Given the description of an element on the screen output the (x, y) to click on. 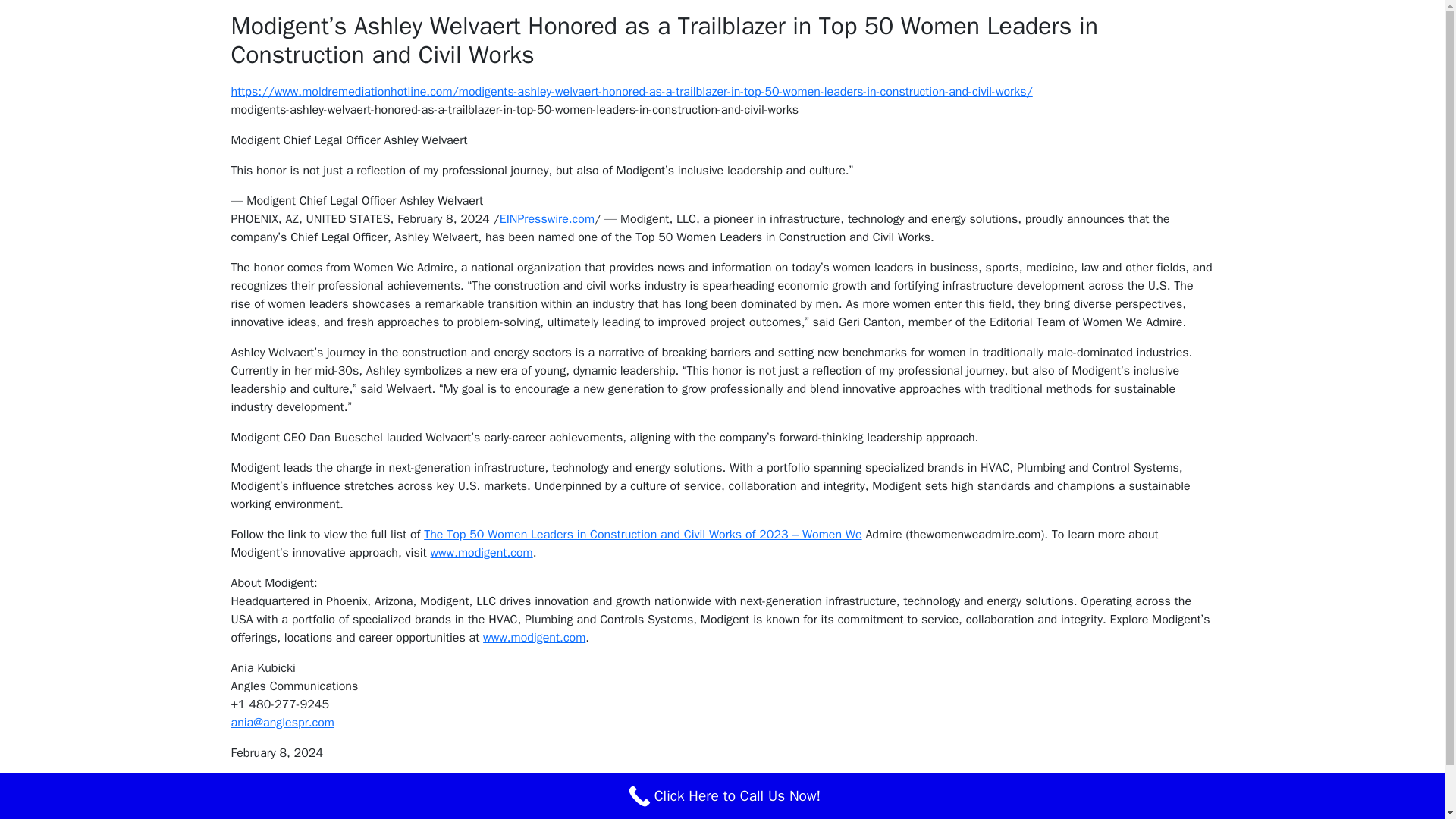
EINPresswire.com (546, 218)
www.modigent.com (480, 552)
www.modigent.com (534, 637)
